Given the description of an element on the screen output the (x, y) to click on. 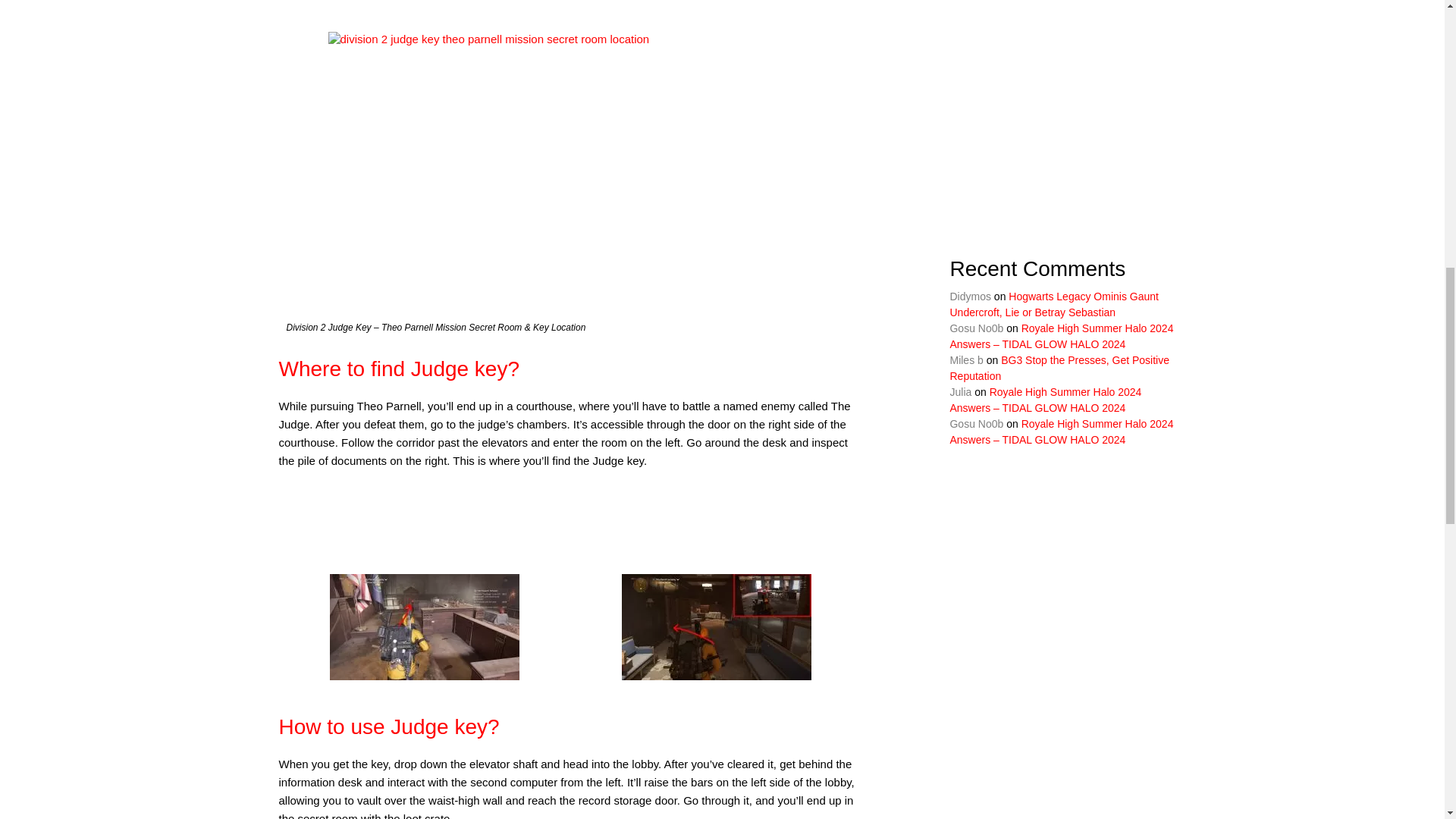
BG3 Stop the Presses, Get Positive Reputation (1059, 367)
